Given the description of an element on the screen output the (x, y) to click on. 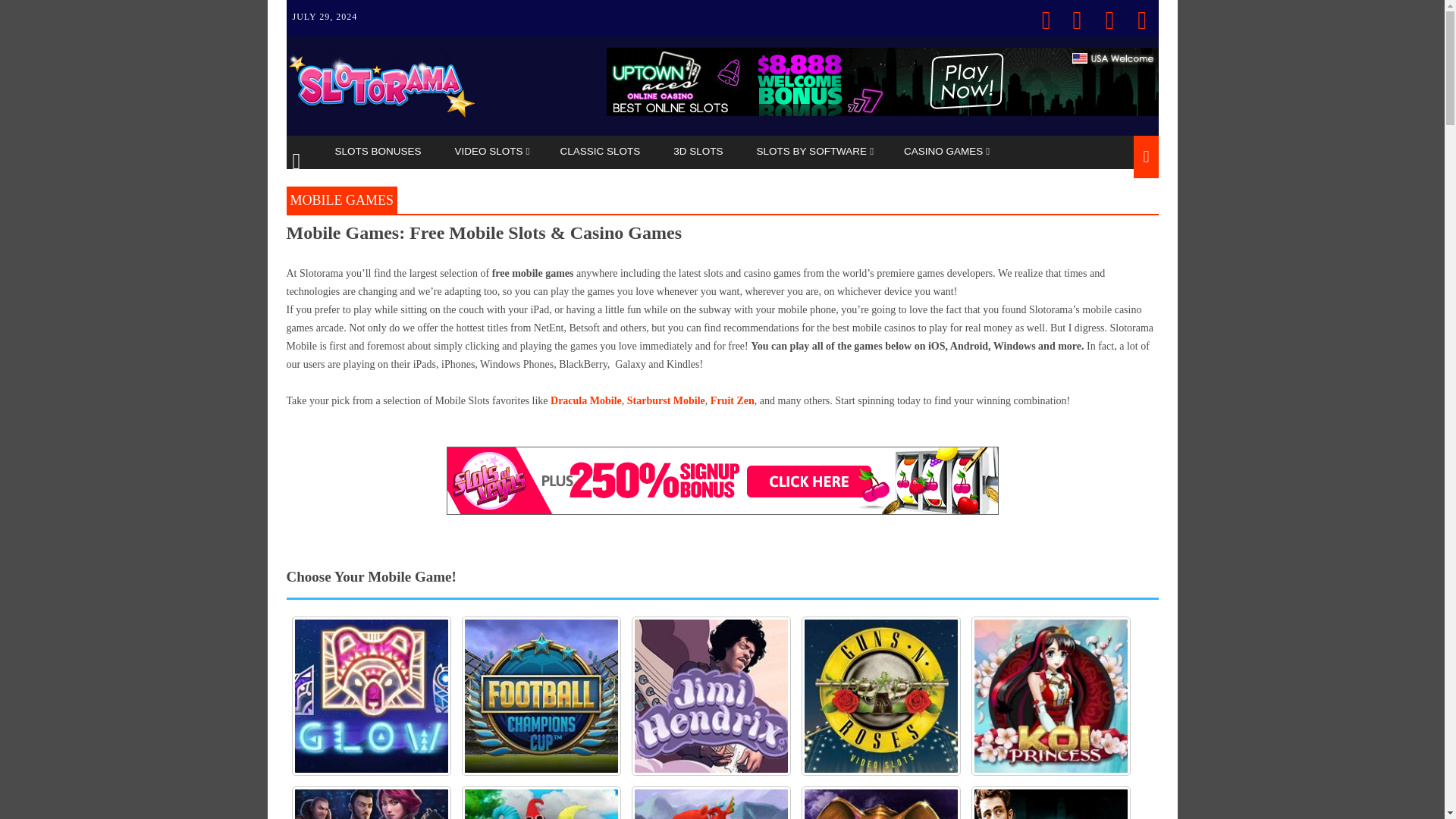
Classic Slots (601, 151)
SLOTS BY SOFTWARE (814, 151)
Instagram (1138, 12)
SLOTS BONUSES (379, 151)
Twitter (1042, 12)
Slots by Software (814, 151)
Youtube (1106, 12)
3D SLOTS (699, 151)
CLASSIC SLOTS (601, 151)
Pinterest (1074, 12)
VIDEO SLOTS (491, 151)
Slotorama (381, 115)
